Given the description of an element on the screen output the (x, y) to click on. 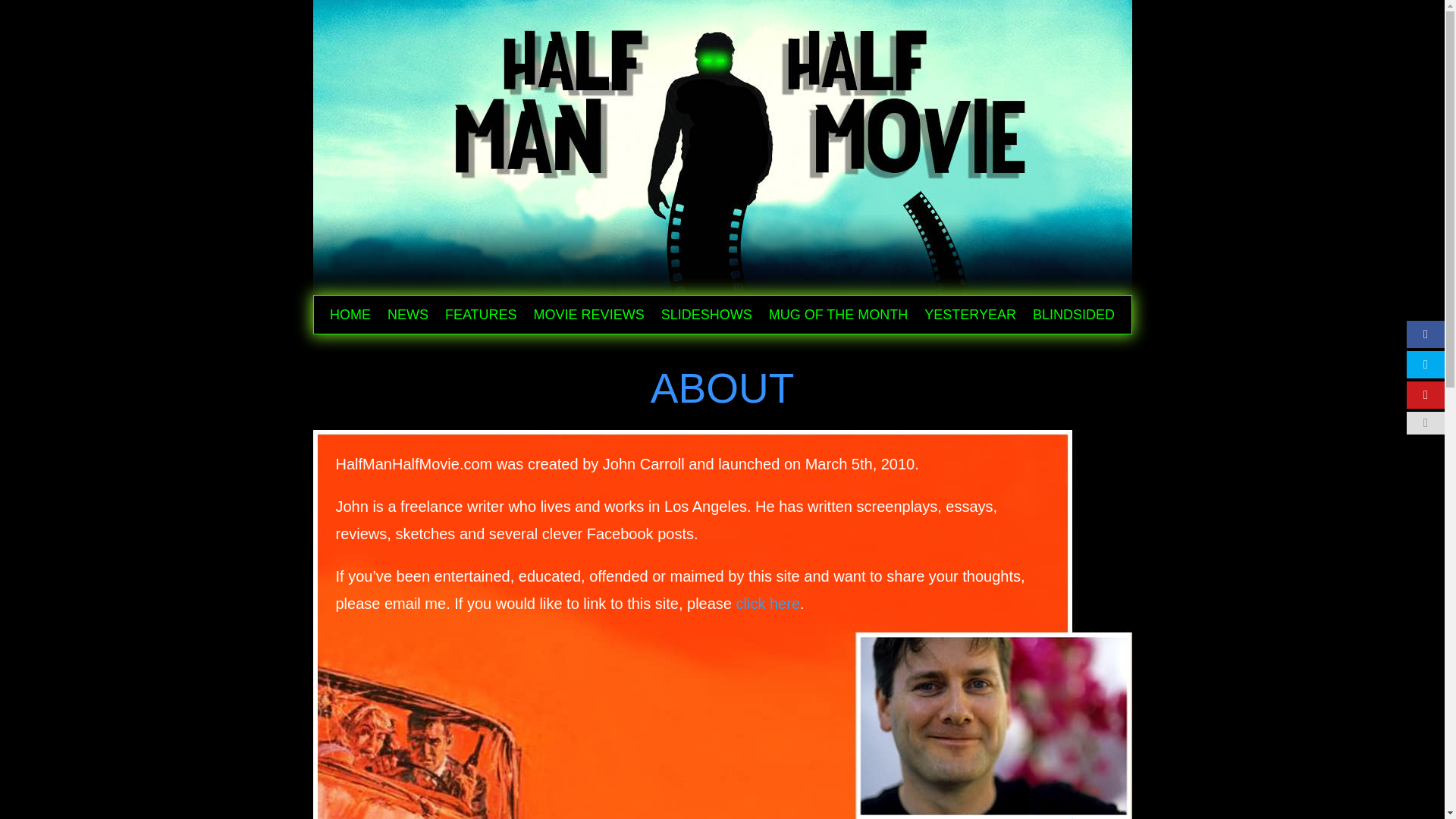
SLIDESHOWS (706, 317)
Mail Me (767, 603)
BLINDSIDED (1073, 317)
MOVIE REVIEWS (589, 317)
YESTERYEAR (970, 317)
NEWS (407, 317)
click here (767, 603)
MUG OF THE MONTH (838, 317)
FEATURES (480, 317)
